Given the description of an element on the screen output the (x, y) to click on. 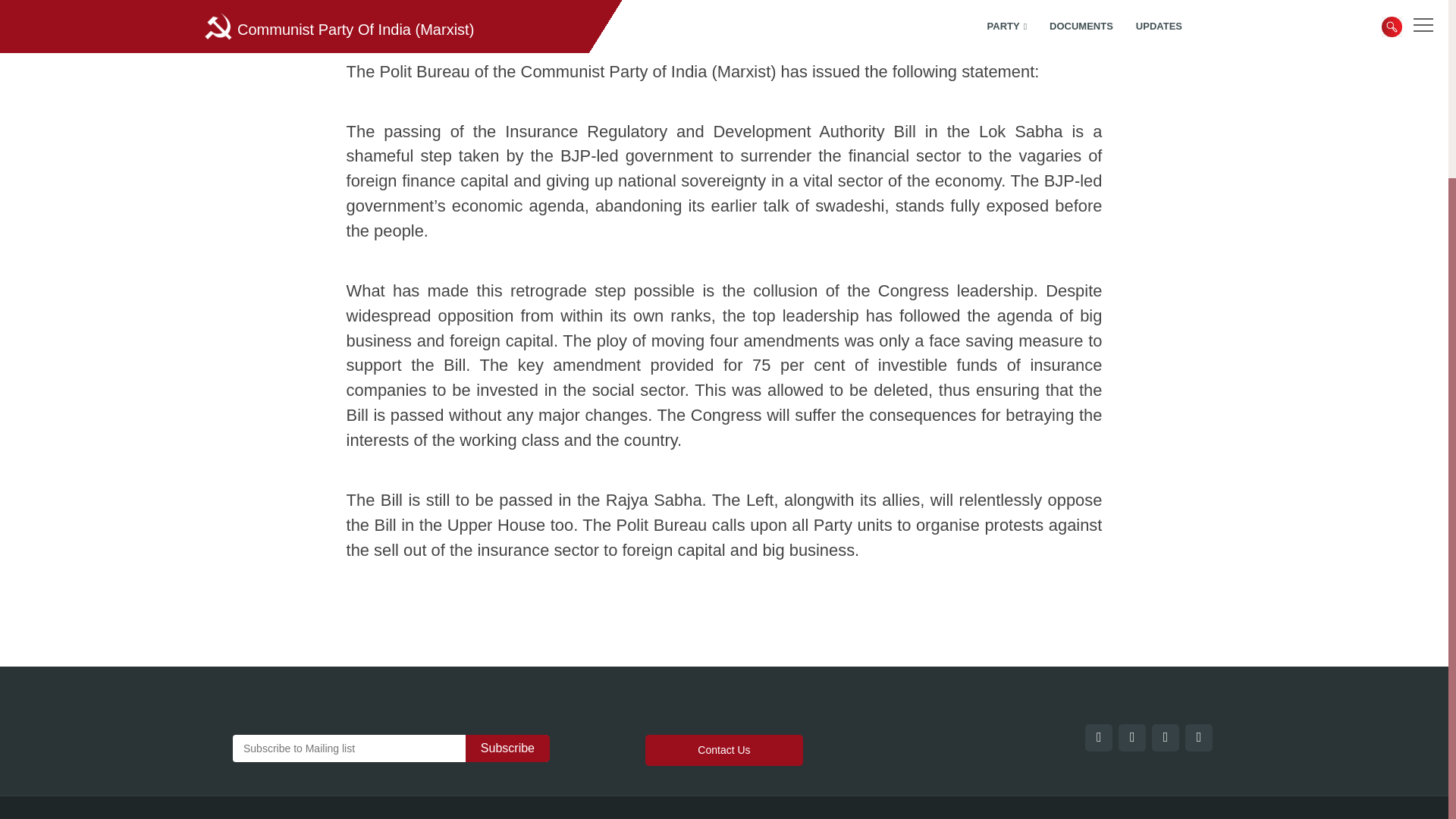
Subscribe (507, 748)
Subscribe (507, 748)
Contact Us (723, 749)
